Given the description of an element on the screen output the (x, y) to click on. 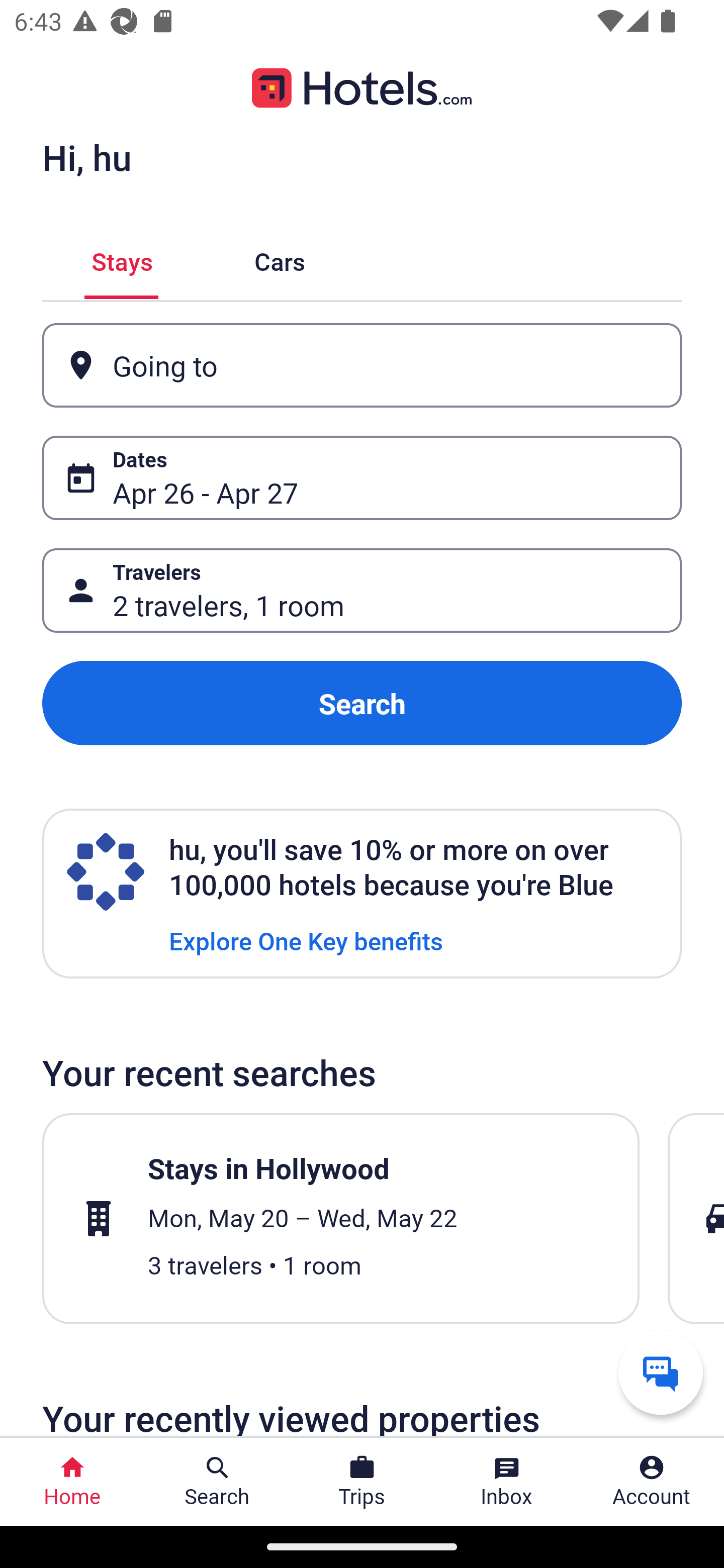
Hi, hu (86, 156)
Cars (279, 259)
Going to Button (361, 365)
Dates Button Apr 26 - Apr 27 (361, 477)
Travelers Button 2 travelers, 1 room (361, 590)
Search (361, 702)
Get help from a virtual agent (660, 1371)
Search Search Button (216, 1481)
Trips Trips Button (361, 1481)
Inbox Inbox Button (506, 1481)
Account Profile. Button (651, 1481)
